Given the description of an element on the screen output the (x, y) to click on. 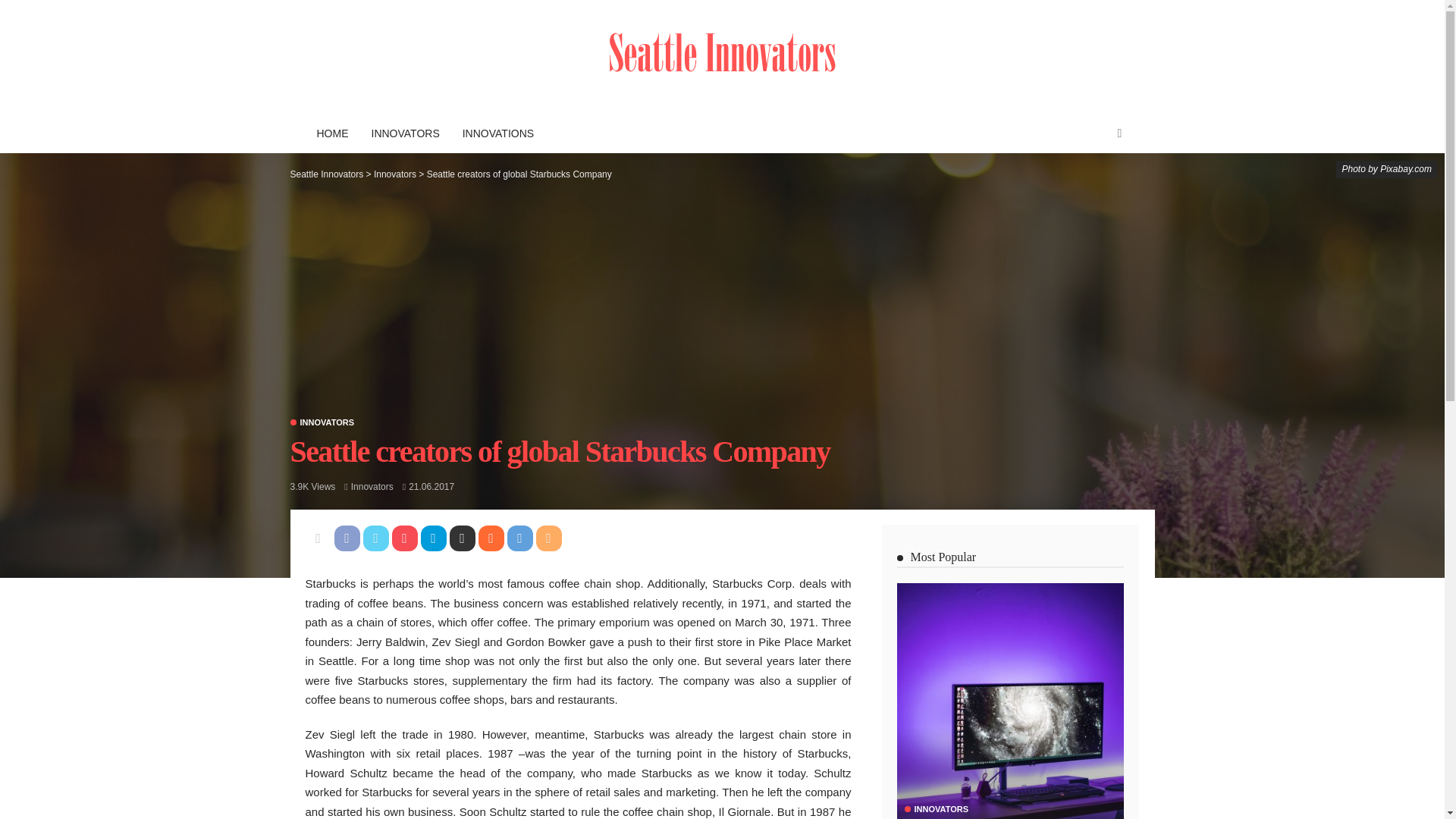
Go to the Innovators Category archives. (395, 173)
HOME (331, 133)
Go to Seattle Innovators. (325, 173)
INNOVATIONS (497, 133)
INNOVATORS (321, 422)
3.9K Views (311, 486)
Seattle Innovators (325, 173)
Seattle creators of global Starbucks Company (311, 486)
INNOVATORS (936, 809)
INNOVATORS (404, 133)
Innovators (371, 486)
search (1118, 133)
Seattle Innovators (721, 56)
Innovators (321, 422)
Innovators (371, 486)
